Given the description of an element on the screen output the (x, y) to click on. 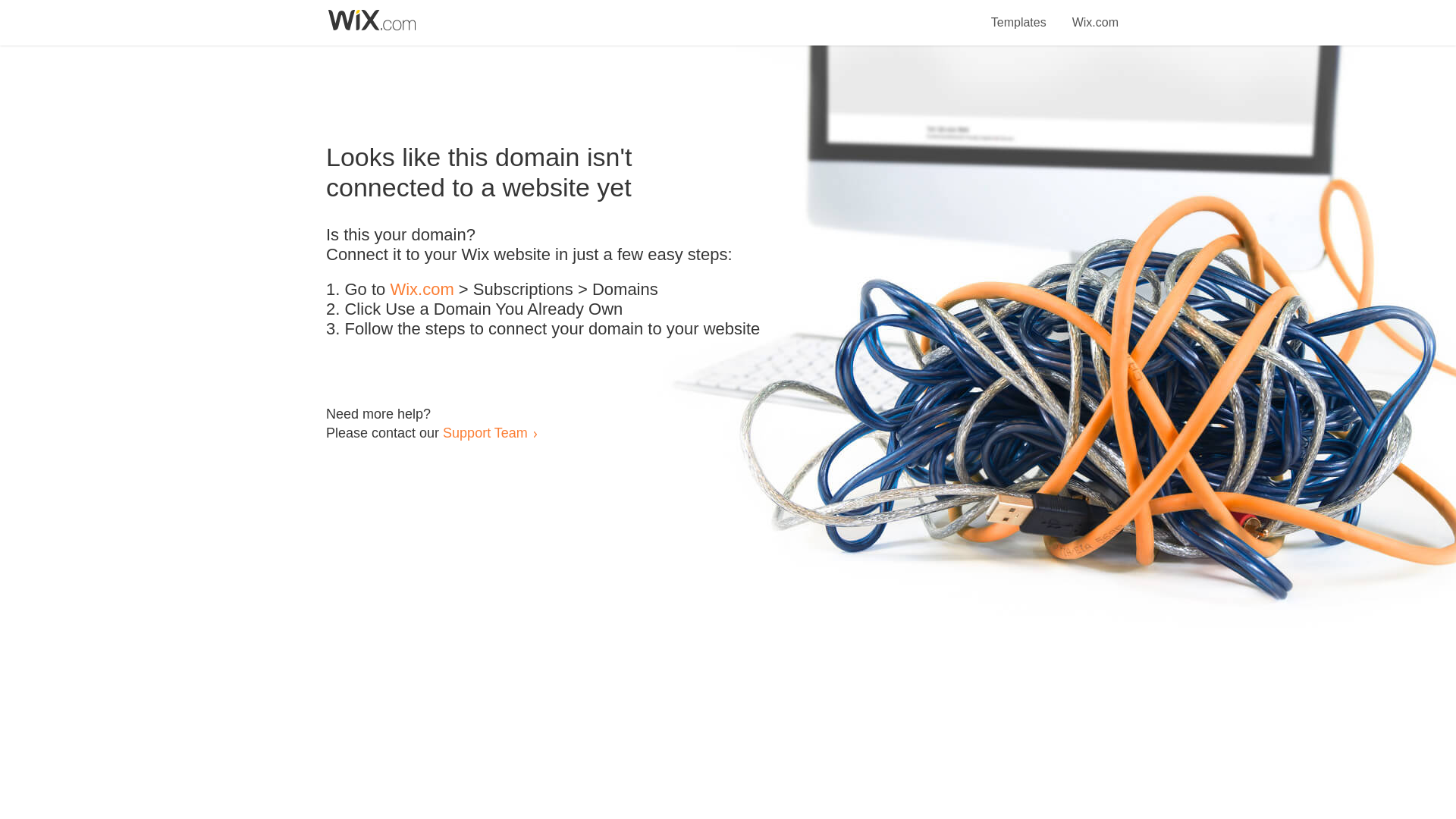
Support Team (484, 432)
Wix.com (421, 289)
Wix.com (1095, 14)
Templates (1018, 14)
